Given the description of an element on the screen output the (x, y) to click on. 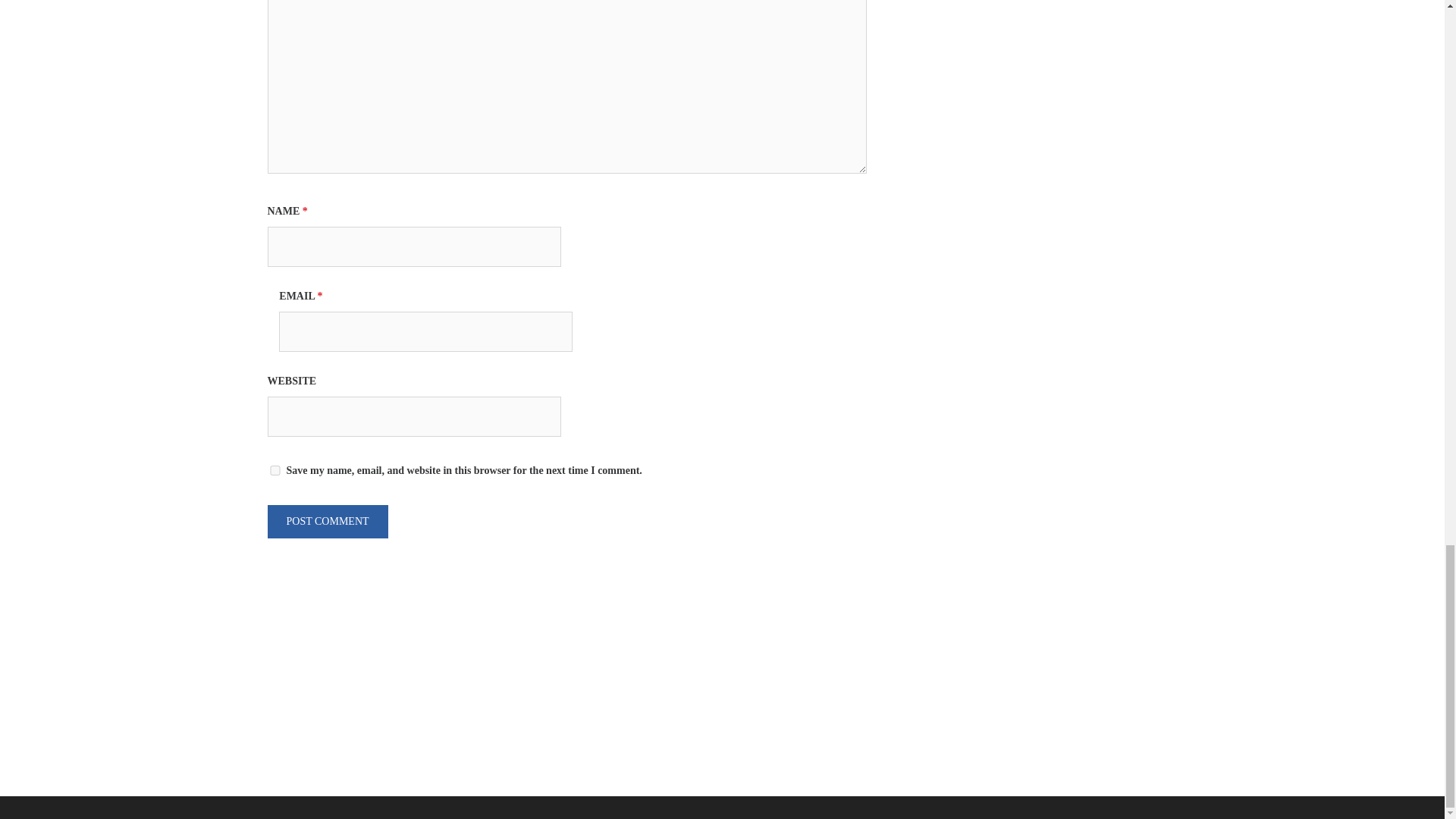
Post Comment (326, 521)
Post Comment (326, 521)
yes (274, 470)
